Given the description of an element on the screen output the (x, y) to click on. 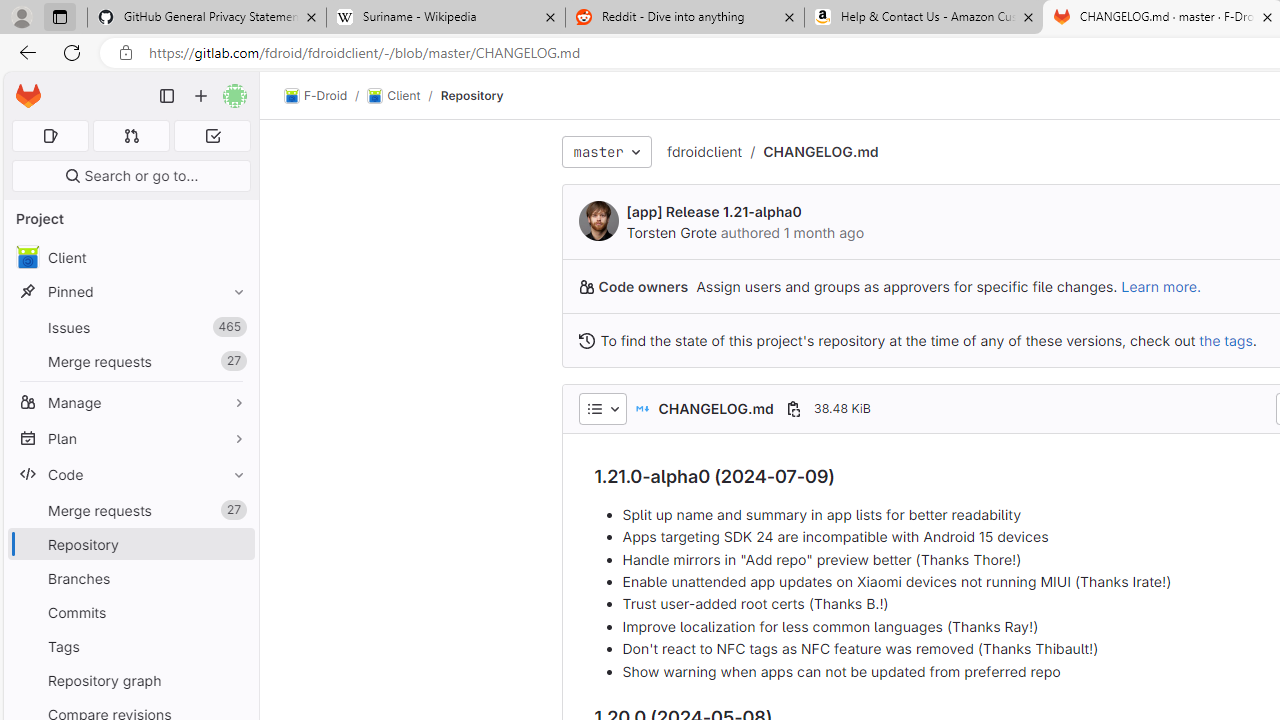
Repository (472, 95)
Code (130, 474)
Unpin Issues (234, 327)
Torsten Grote's avatar (598, 220)
Homepage (27, 96)
Tags (130, 646)
AutomationID: dropdown-toggle-btn-50 (602, 408)
Torsten Grote's avatar (598, 220)
F-Droid (316, 96)
Plan (130, 438)
Pin Commits (234, 611)
Pin Repository (234, 544)
Unpin Merge requests (234, 510)
